Given the description of an element on the screen output the (x, y) to click on. 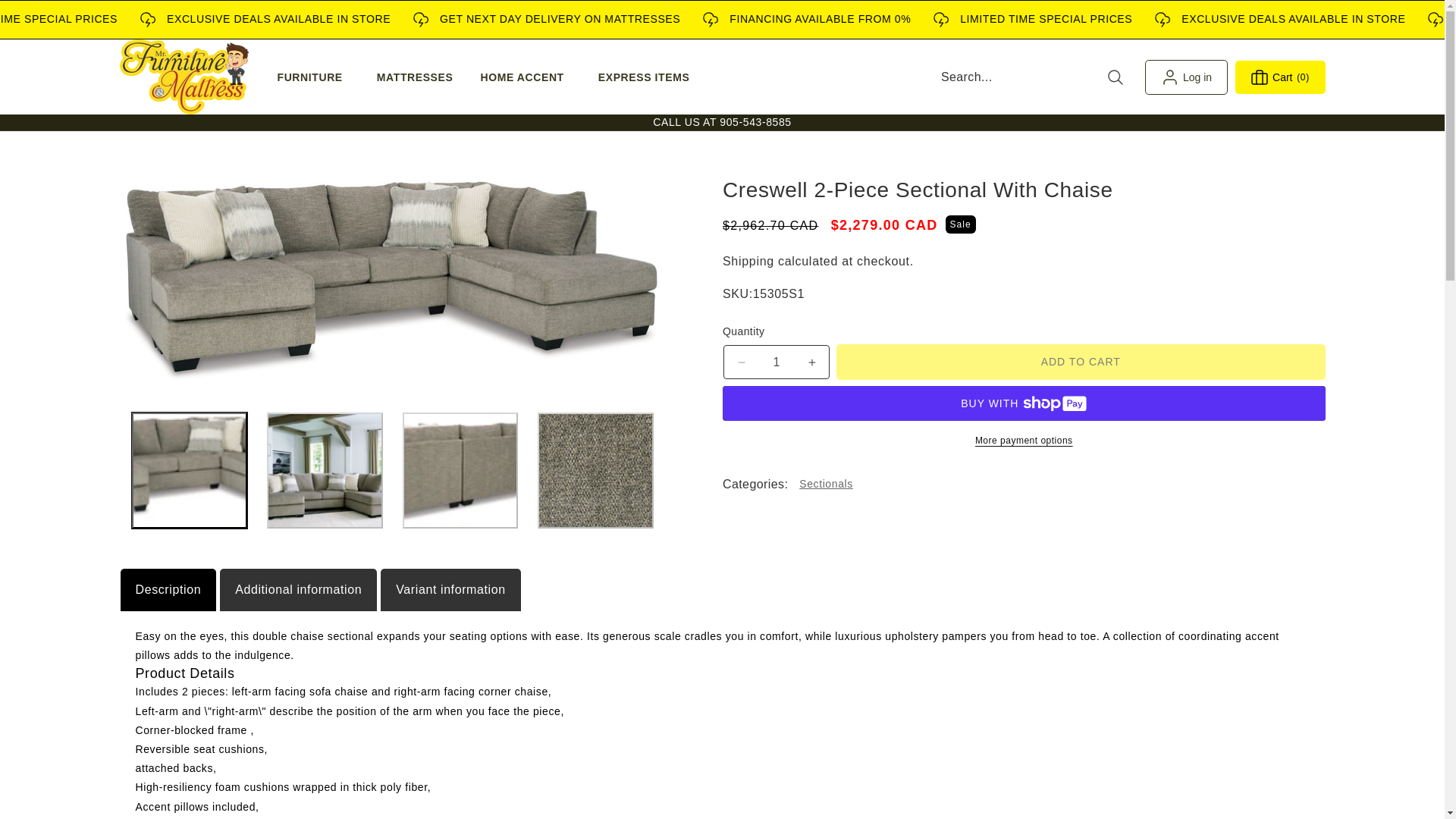
SKIP TO CONTENT (45, 17)
1 (775, 361)
